Given the description of an element on the screen output the (x, y) to click on. 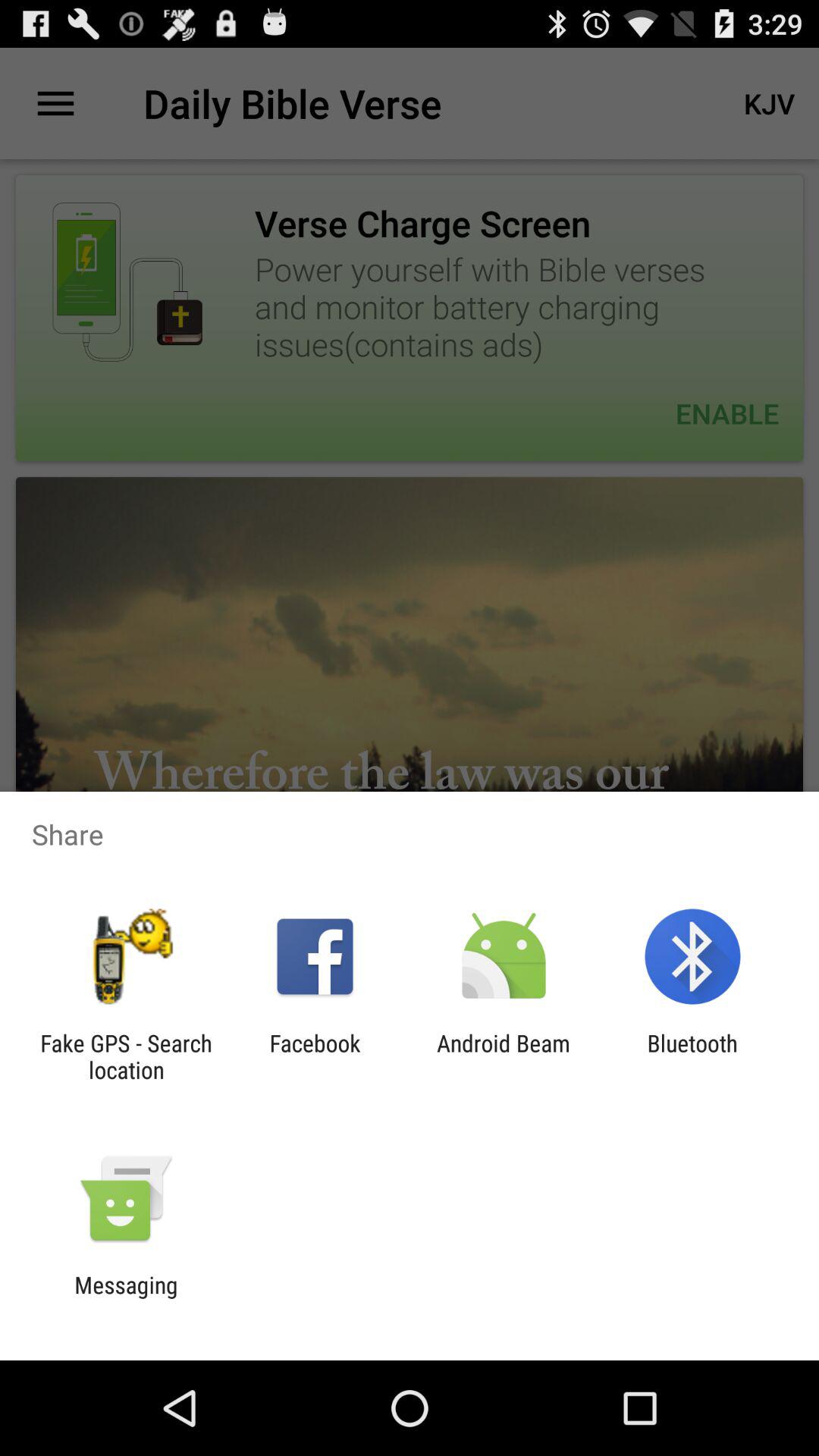
select the item to the right of facebook icon (503, 1056)
